Given the description of an element on the screen output the (x, y) to click on. 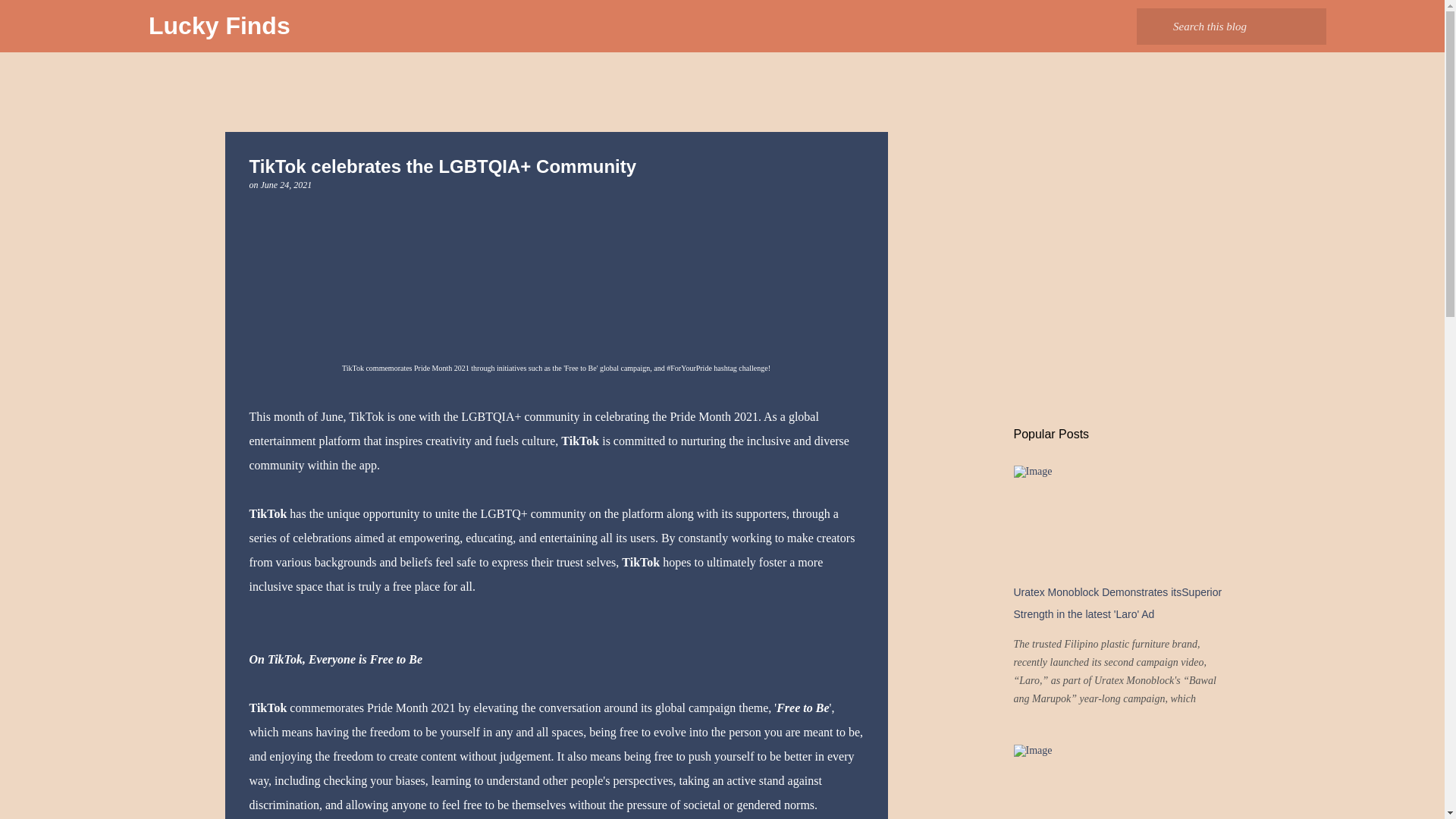
Lucky Finds (218, 25)
permanent link (286, 184)
June 24, 2021 (286, 184)
